Given the description of an element on the screen output the (x, y) to click on. 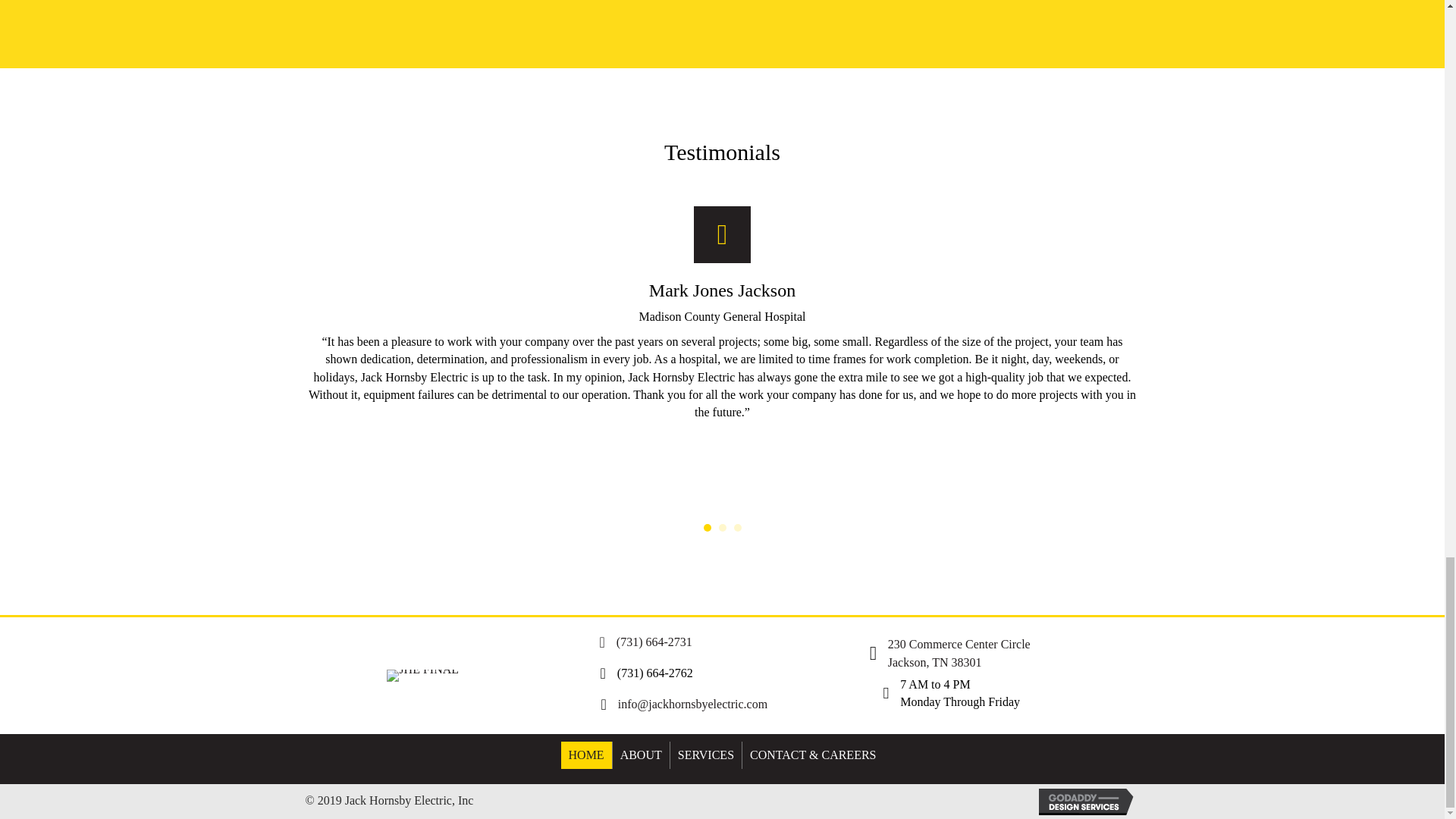
ABOUT (640, 755)
2 (722, 527)
HOME (585, 755)
JHE FINAL (422, 675)
SERVICES (705, 755)
3 (737, 527)
1 (707, 527)
